Given the description of an element on the screen output the (x, y) to click on. 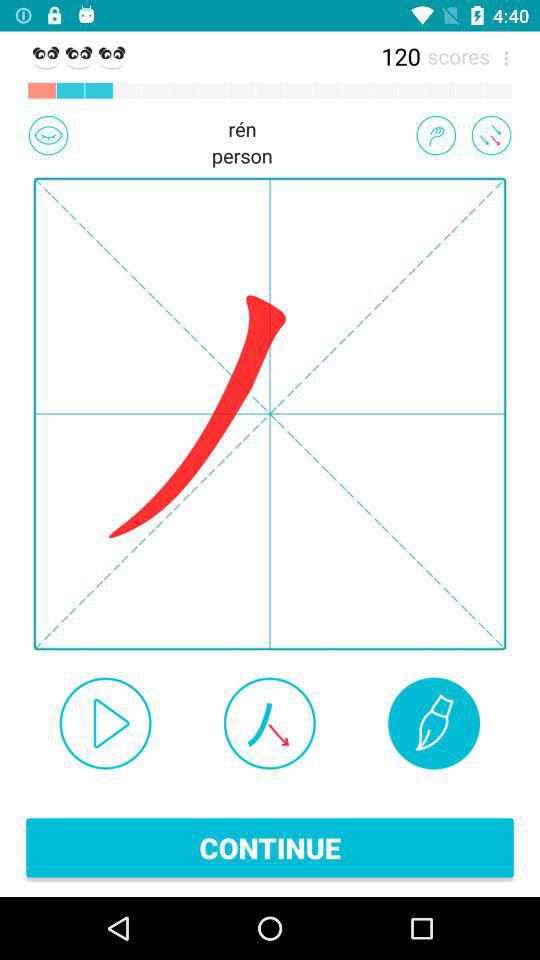
go back (491, 135)
